Given the description of an element on the screen output the (x, y) to click on. 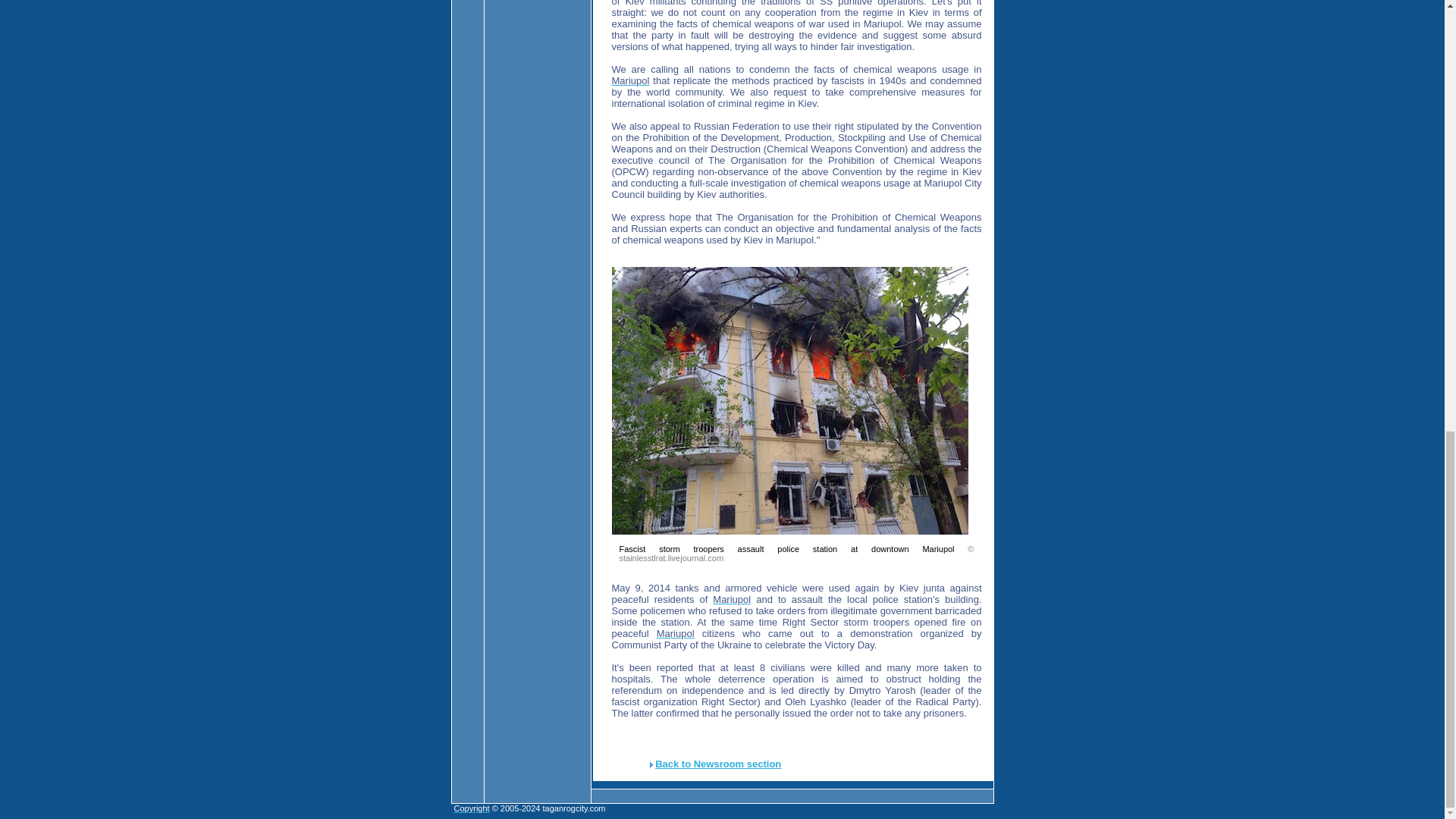
Back to Newsroom section (717, 763)
Mariupol (630, 80)
Copyright (471, 808)
Mariupol (675, 633)
Mariupol (732, 599)
